Given the description of an element on the screen output the (x, y) to click on. 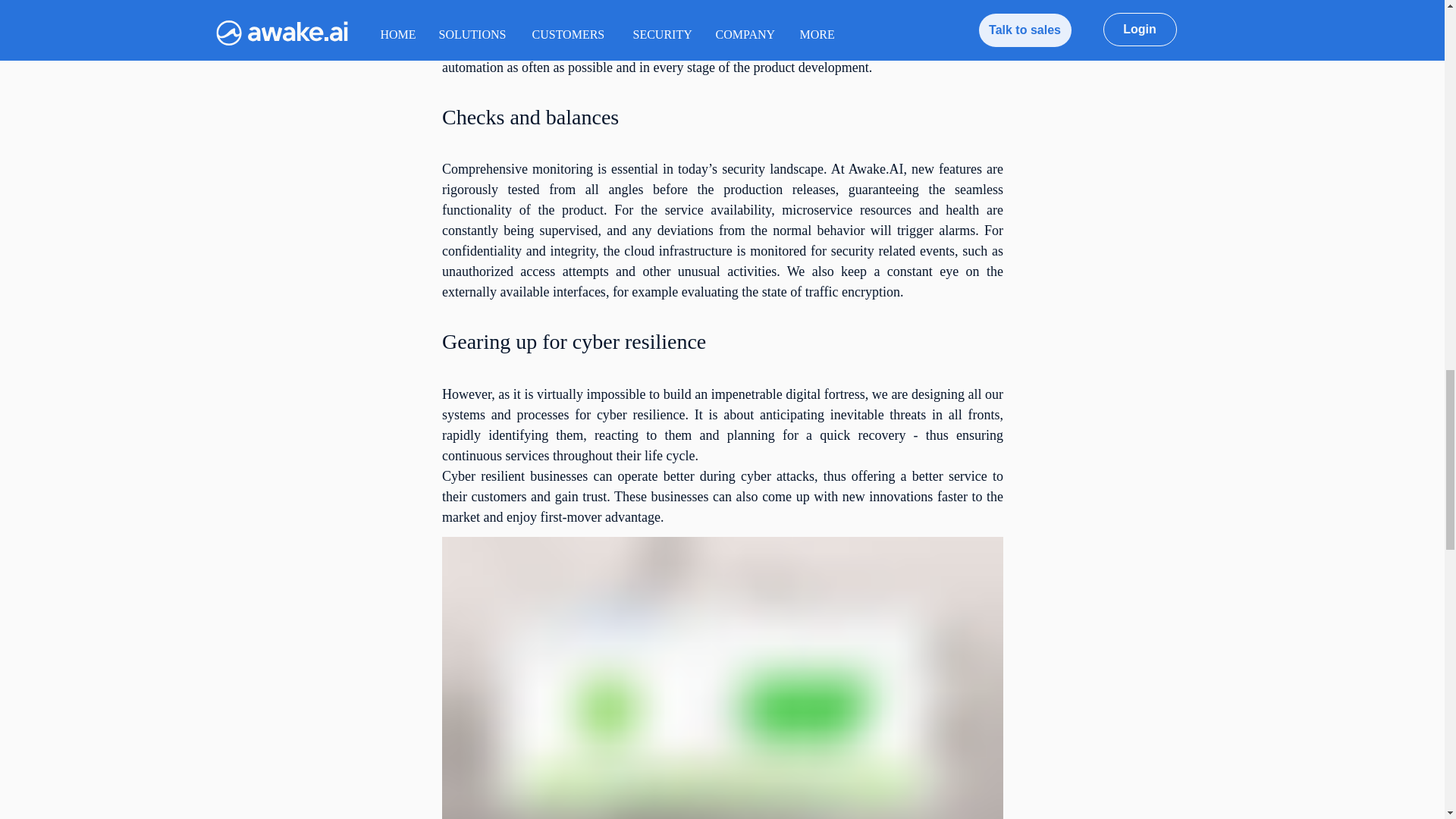
Center for Internet Security (907, 25)
